Given the description of an element on the screen output the (x, y) to click on. 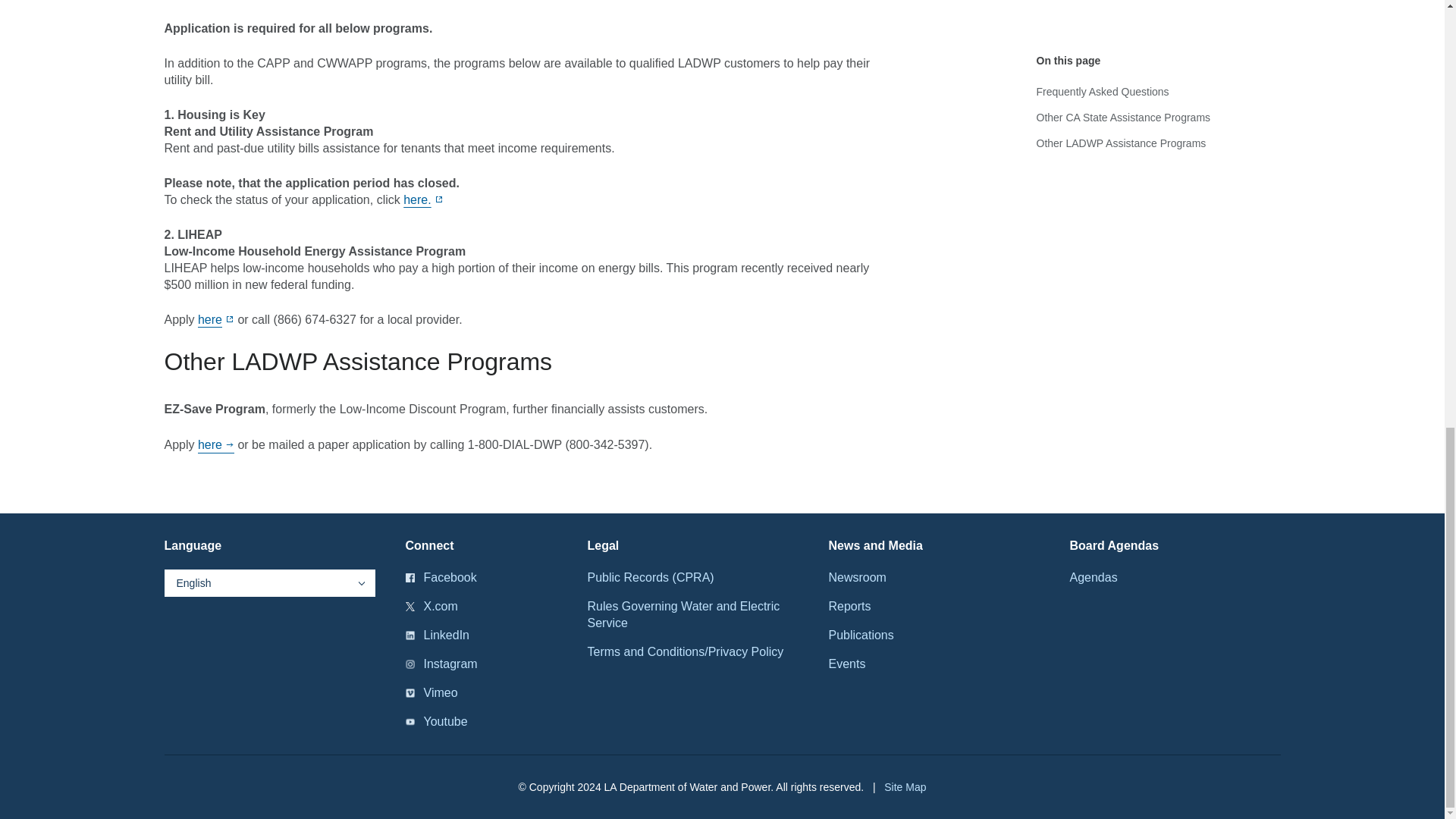
footer-icon-instagram.svg (408, 664)
Reports (849, 606)
Twitter Logo.svg (408, 605)
footer-icon-vimeo.svg (408, 692)
Legal (602, 545)
footer-icon-linkedin.svg (408, 634)
footer-icon-youtube.svg (408, 721)
Sitemap (904, 787)
News and media (874, 545)
EZ-SAVE Program (216, 445)
footer-icon-facebook (408, 577)
